Given the description of an element on the screen output the (x, y) to click on. 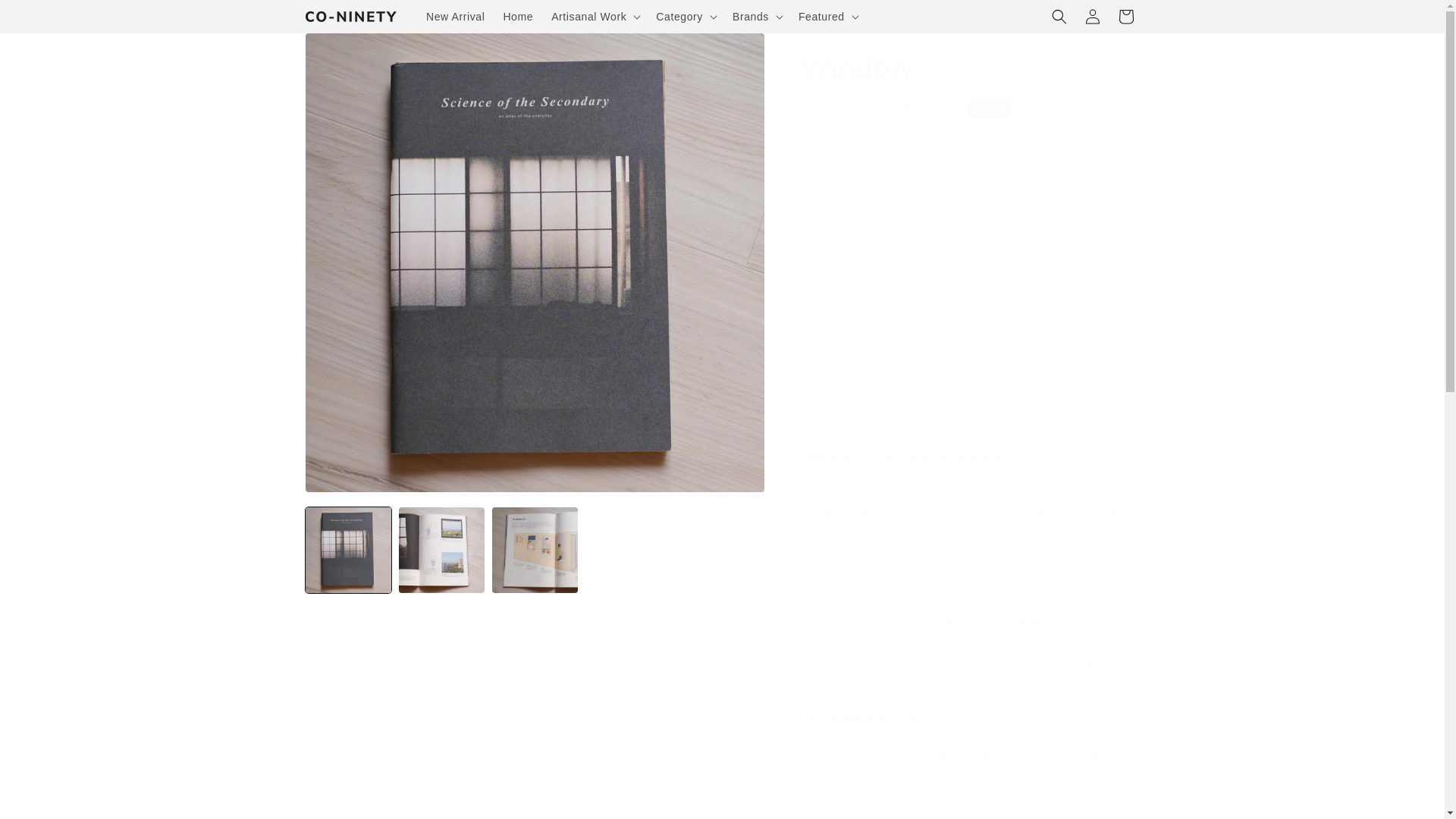
Skip to content (45, 17)
1 (856, 188)
